Given the description of an element on the screen output the (x, y) to click on. 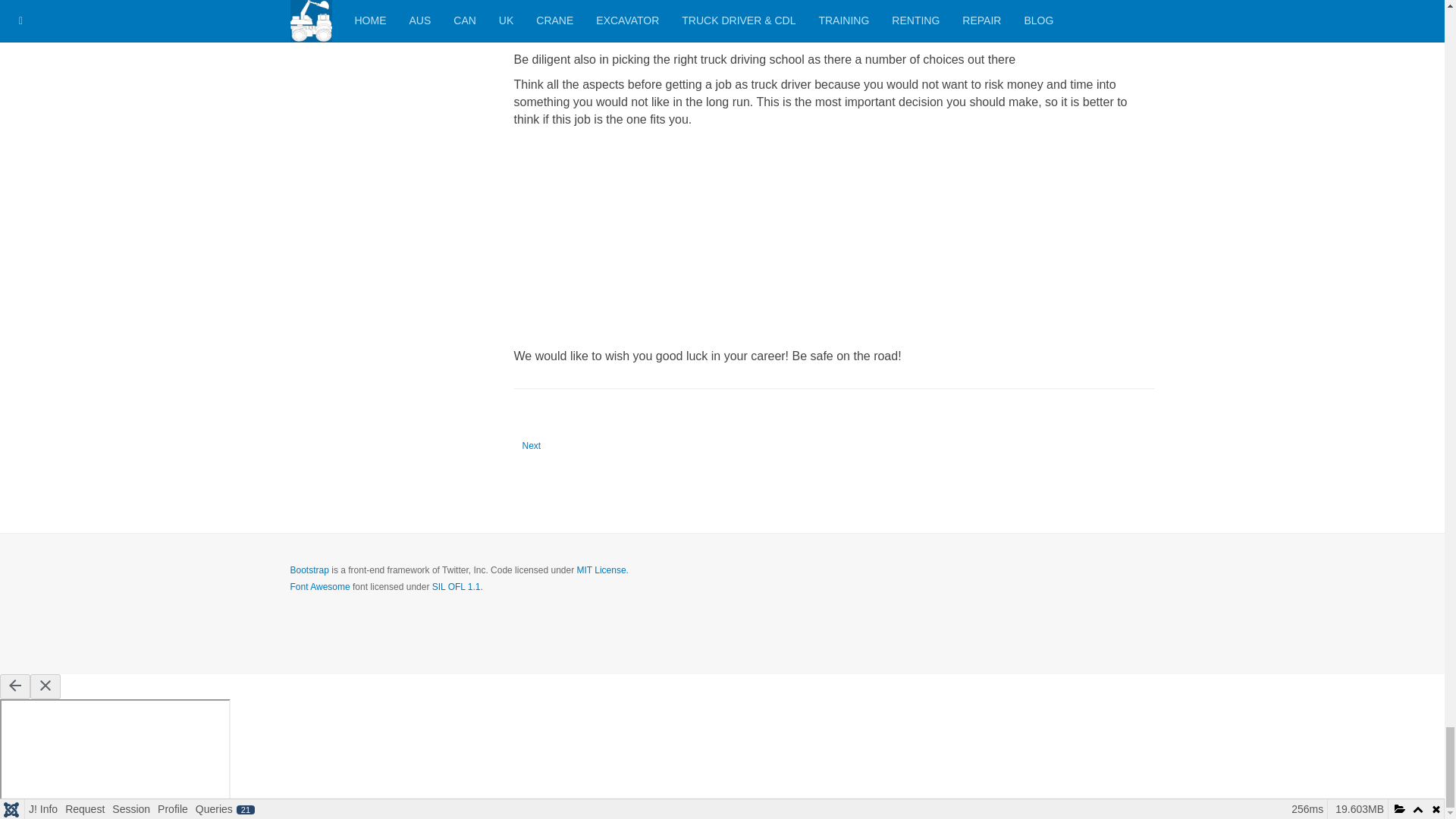
MIT License (601, 570)
Bootstrap by Twitter (531, 445)
